Given the description of an element on the screen output the (x, y) to click on. 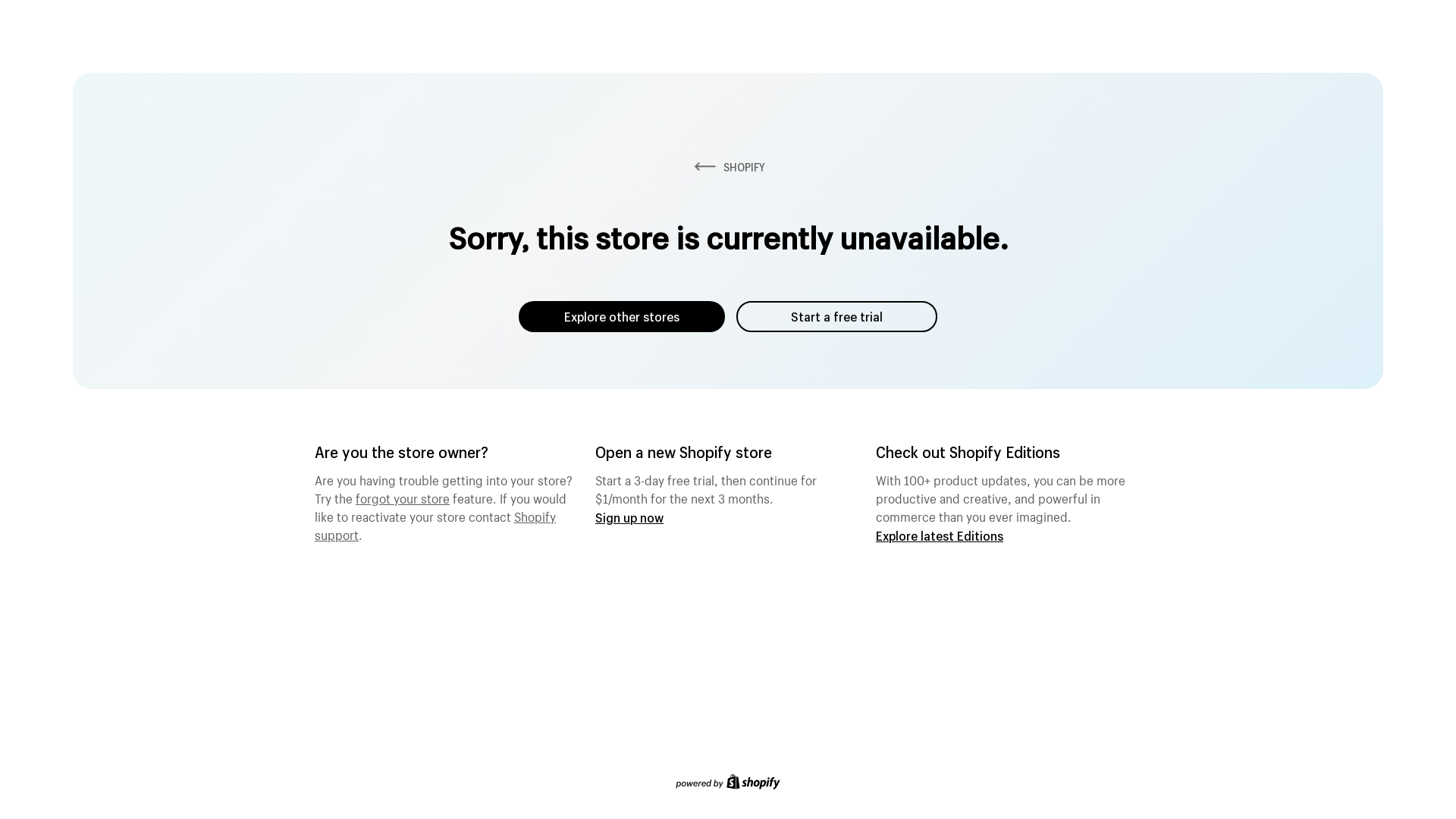
SHOPIFY Element type: text (727, 167)
Start a free trial Element type: text (836, 316)
Sign up now Element type: text (629, 517)
Explore latest Editions Element type: text (939, 535)
Explore other stores Element type: text (621, 316)
Shopify support Element type: text (434, 523)
forgot your store Element type: text (402, 496)
